Given the description of an element on the screen output the (x, y) to click on. 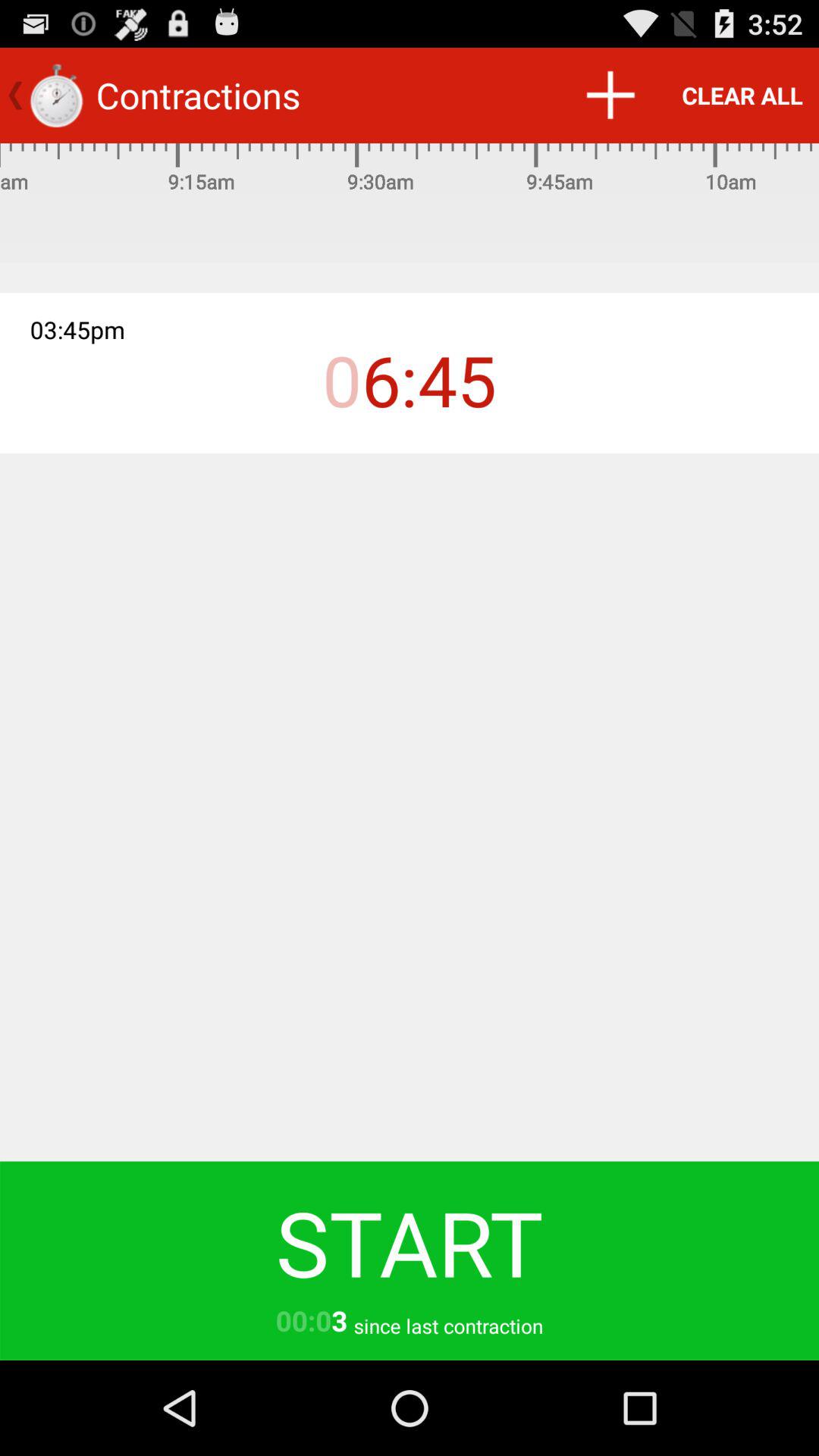
launch the clear all item (742, 95)
